Given the description of an element on the screen output the (x, y) to click on. 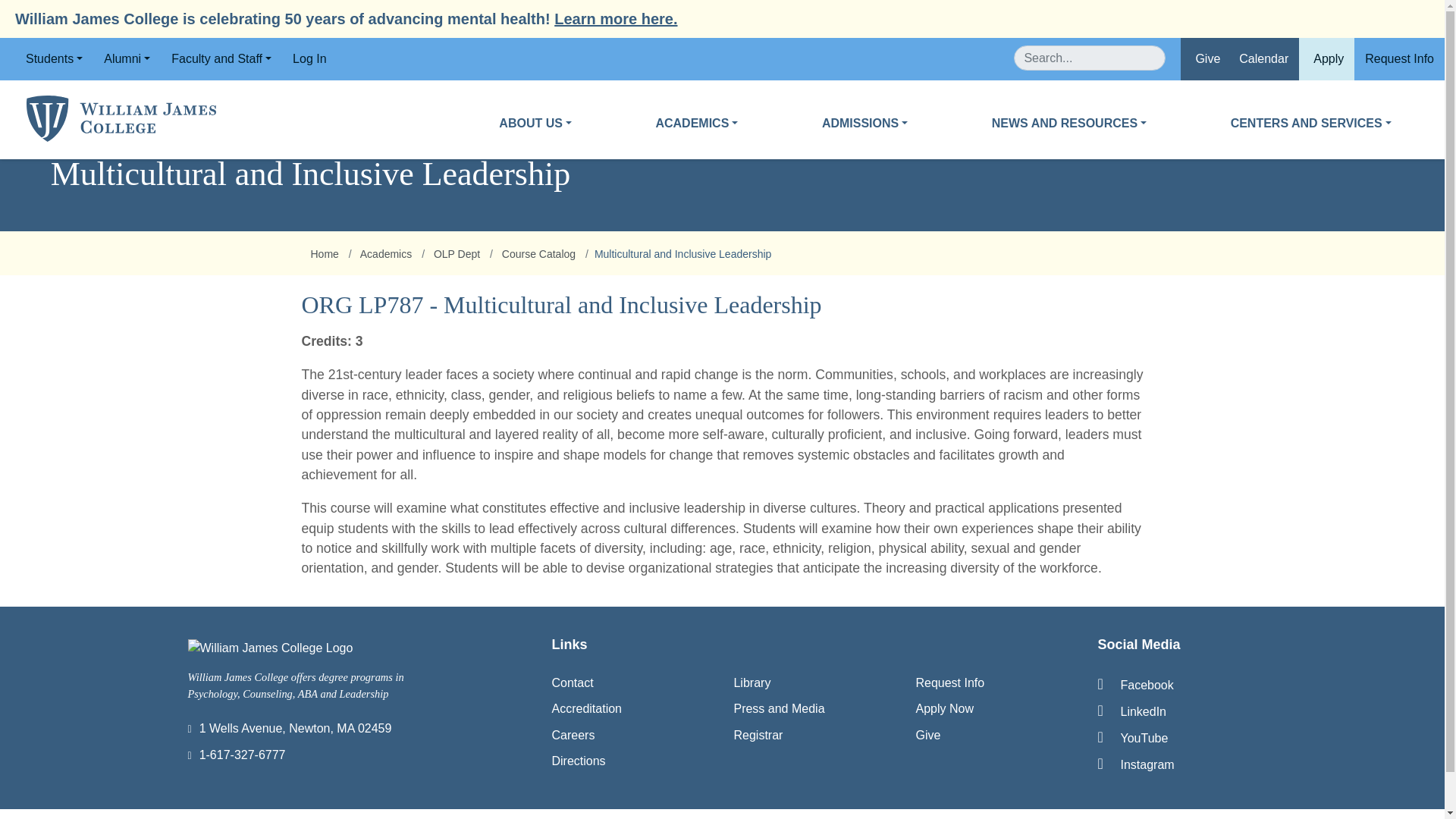
CLOSE ALERT (1414, 19)
ABOUT US (534, 132)
Learn more here. (615, 18)
ACADEMICS (695, 132)
